Given the description of an element on the screen output the (x, y) to click on. 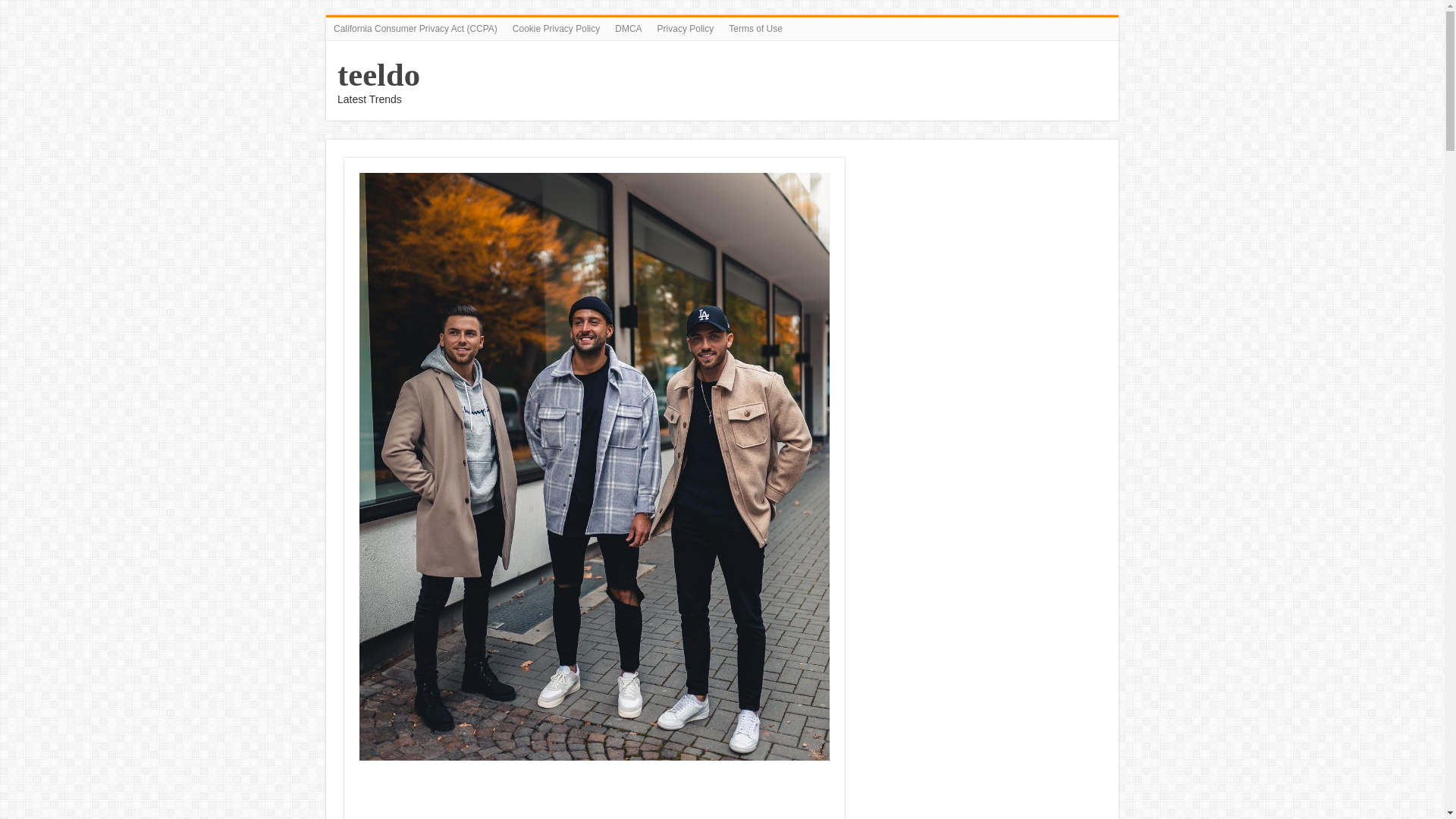
Advertisement (982, 263)
Terms of Use (755, 28)
DMCA (628, 28)
Cookie Privacy Policy (556, 28)
Advertisement (594, 795)
teeldo (378, 74)
Privacy Policy (685, 28)
